Given the description of an element on the screen output the (x, y) to click on. 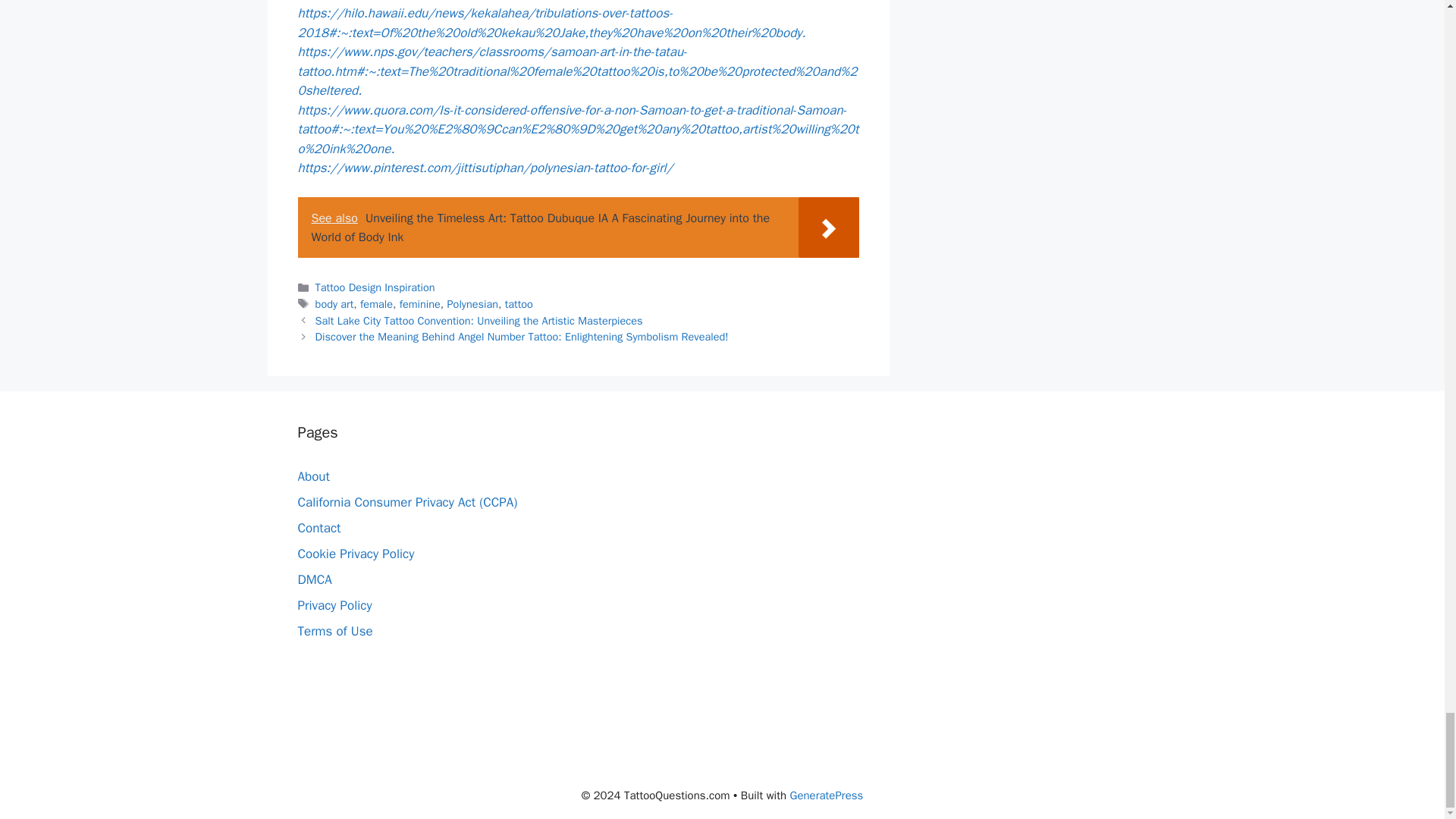
Tattoo Design Inspiration (375, 287)
female (376, 304)
tattoo (518, 304)
feminine (419, 304)
body art (334, 304)
Polynesian (471, 304)
